Given the description of an element on the screen output the (x, y) to click on. 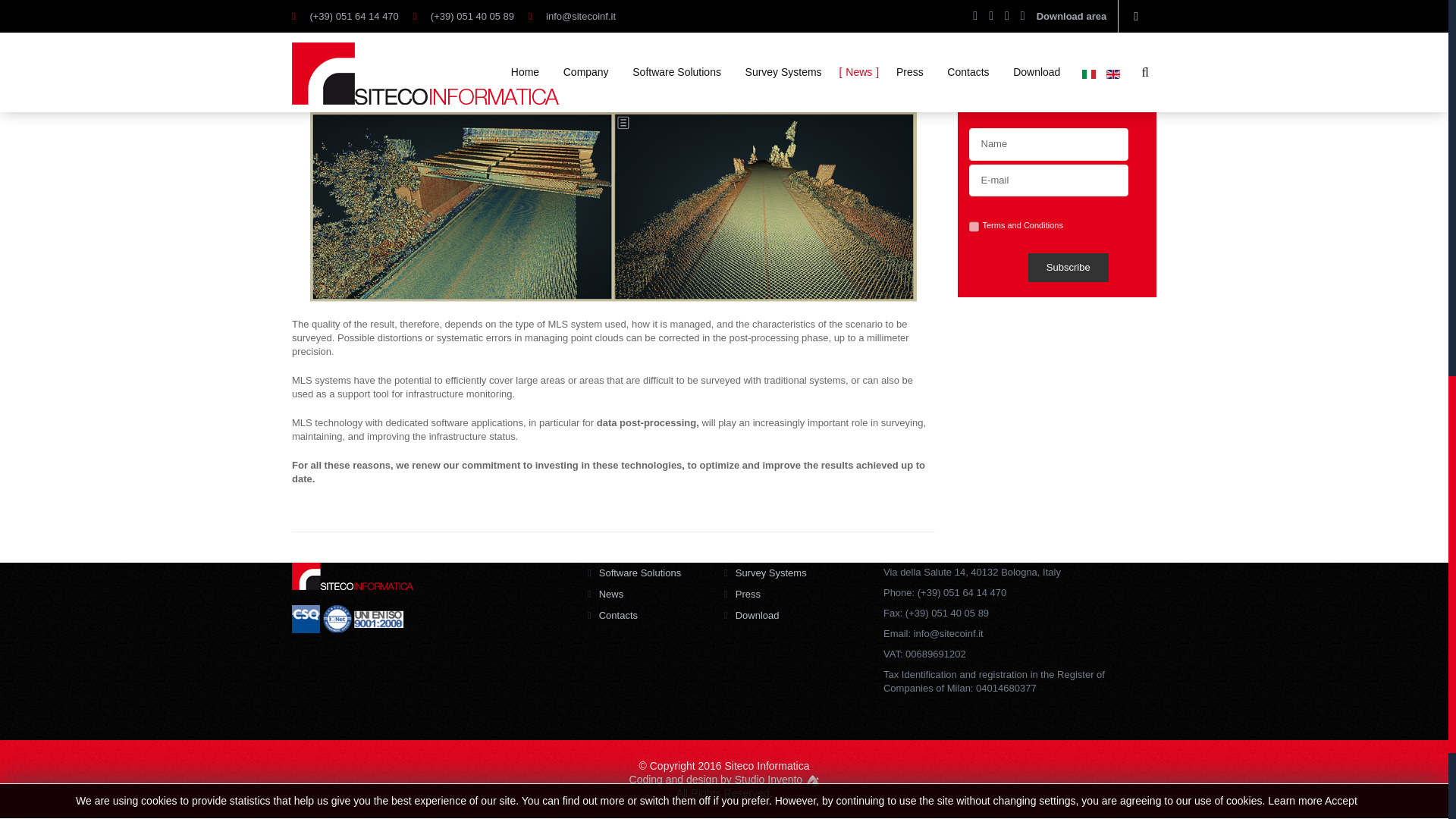
Subscribe (1067, 267)
Name (1048, 143)
Terms and Conditions (1030, 224)
E-mail (1048, 180)
E-mail (1048, 180)
Name (1048, 143)
